Given the description of an element on the screen output the (x, y) to click on. 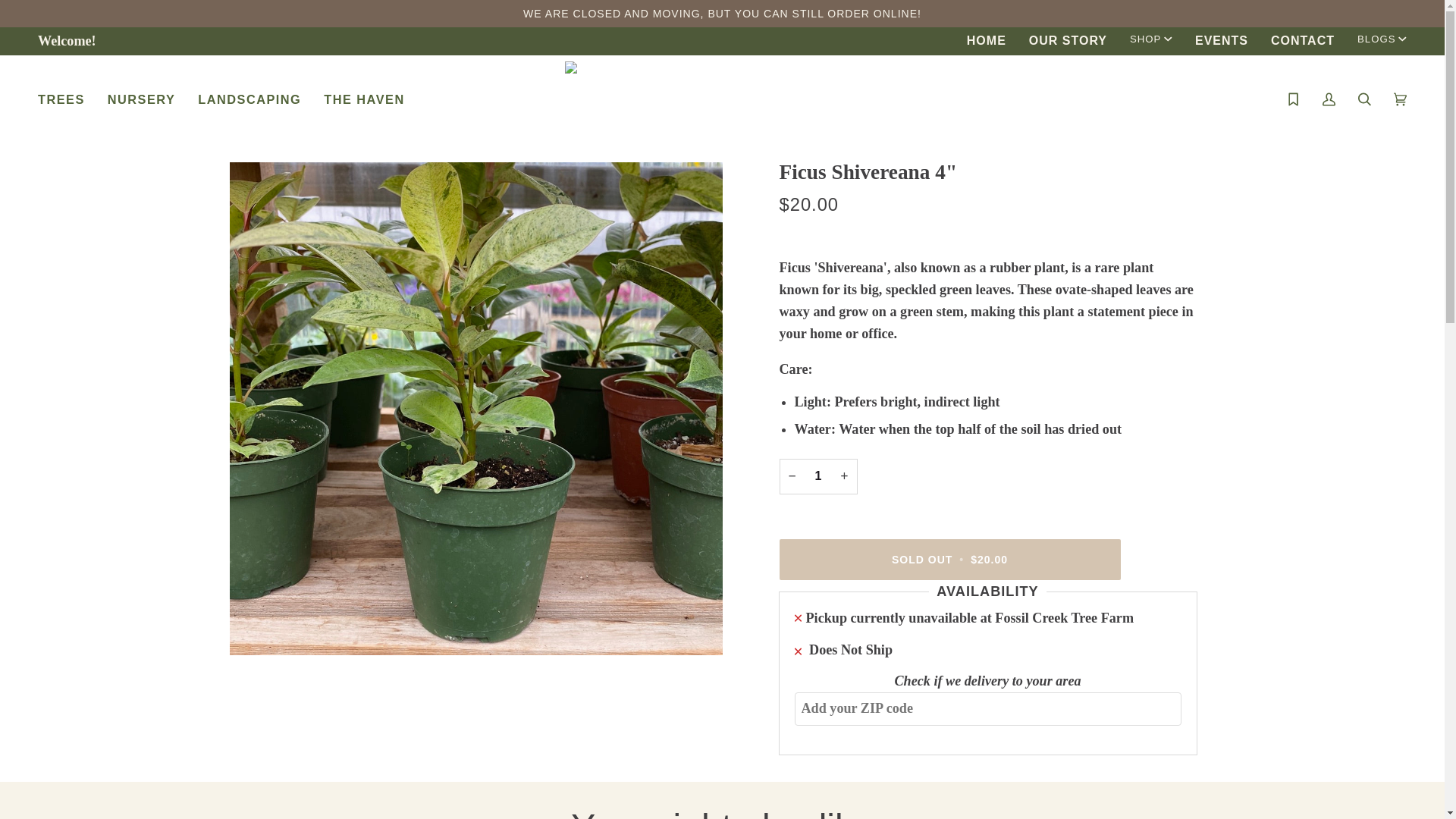
OUR STORY (1067, 40)
CONTACT (1302, 40)
NURSERY (141, 99)
1 (817, 476)
HOME (986, 40)
SHOP (1150, 39)
BLOGS (1381, 39)
EVENTS (1221, 40)
